Given the description of an element on the screen output the (x, y) to click on. 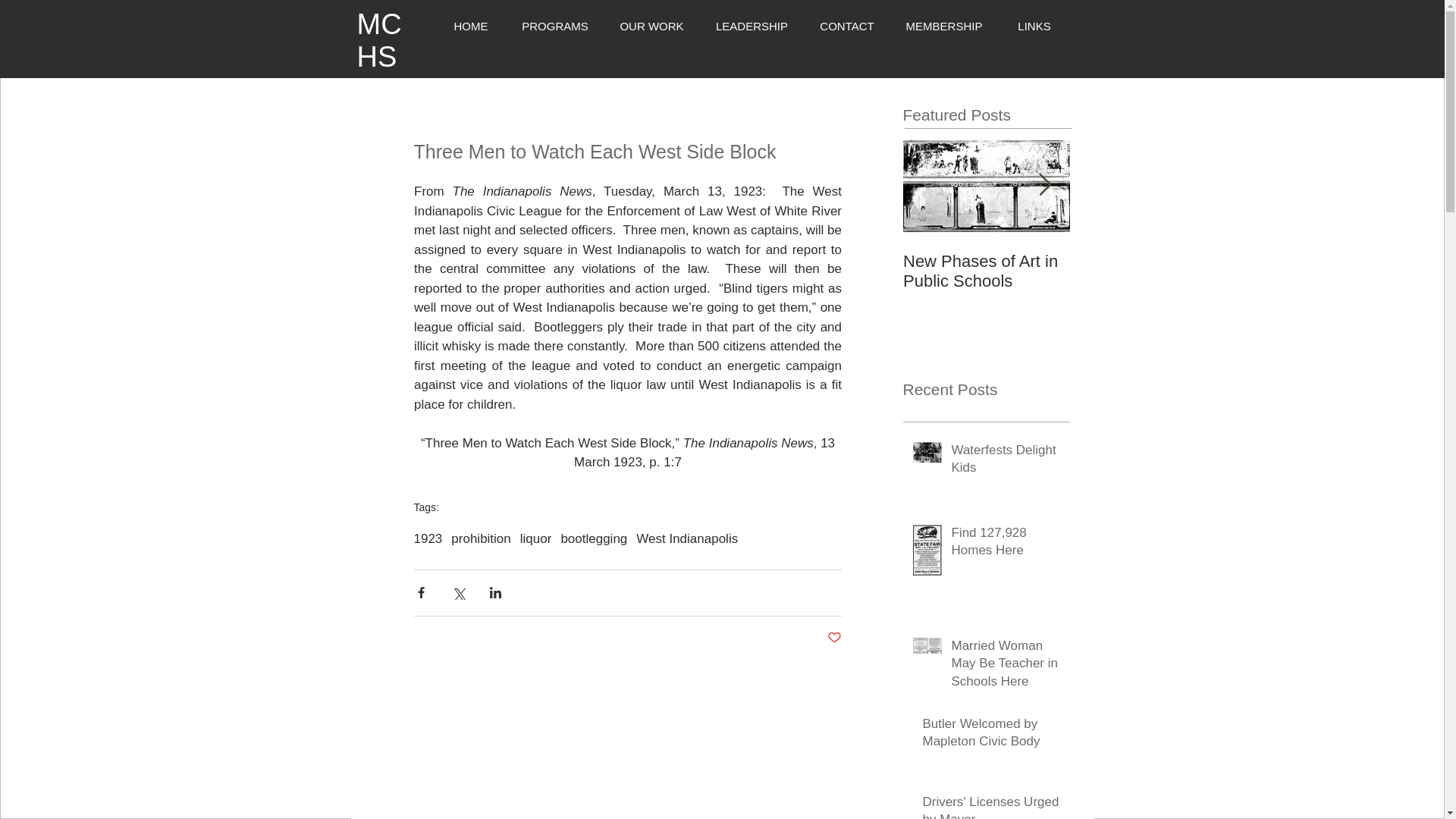
bootlegging (593, 538)
Indianapolis Sets New Joy Record (1152, 271)
liquor (535, 538)
West Indianapolis (687, 538)
Waterfests Delight Kids (1004, 462)
Find 127,928 Homes Here (1004, 545)
Drivers' Licenses Urged by Mayor (990, 806)
1923 (427, 538)
LEADERSHIP (750, 26)
HOME (470, 26)
